Given the description of an element on the screen output the (x, y) to click on. 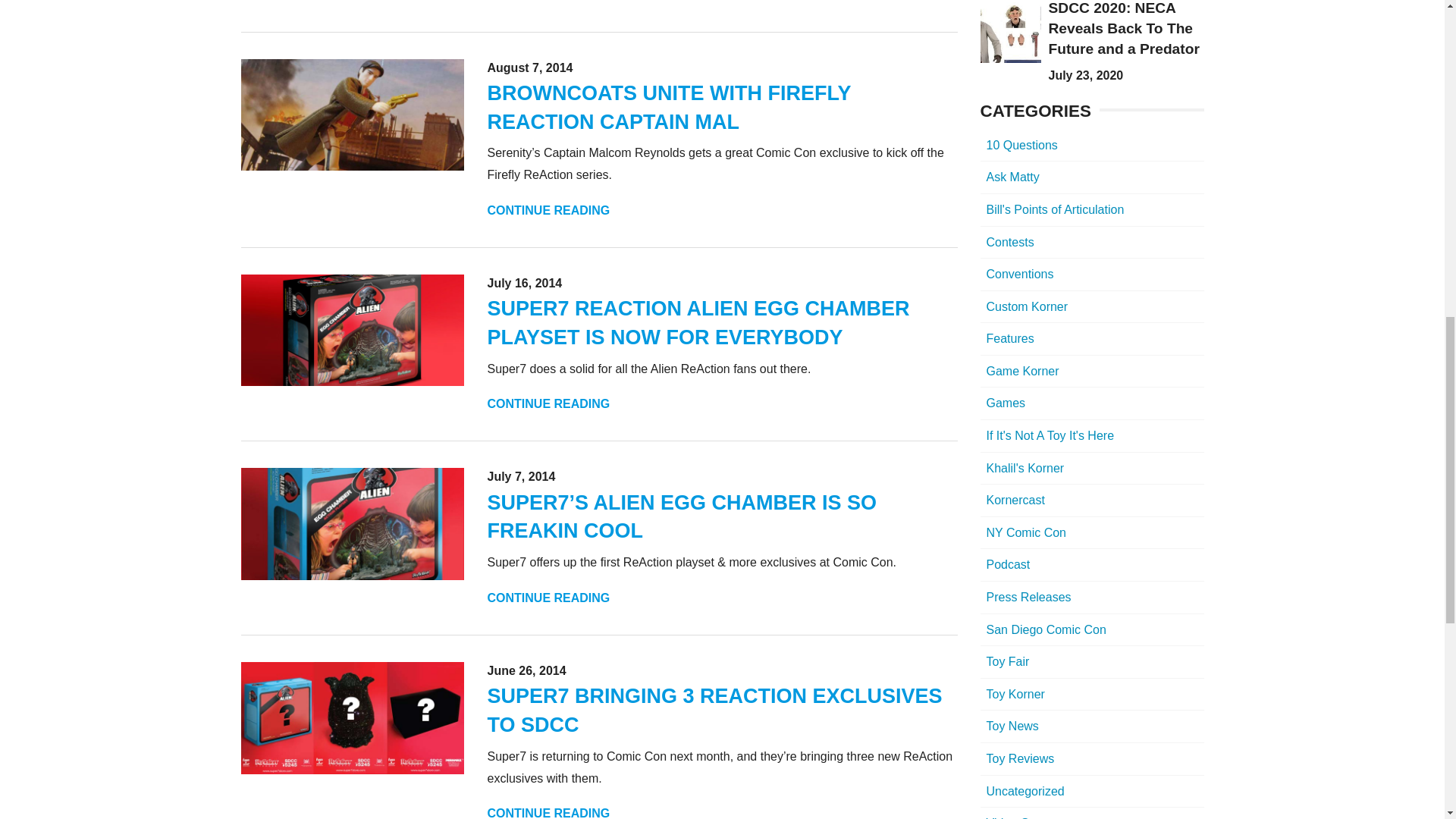
CONTINUE READING (548, 812)
CONTINUE READING (548, 210)
BROWNCOATS UNITE WITH FIREFLY REACTION CAPTAIN MAL (668, 107)
CONTINUE READING (548, 0)
CONTINUE READING (548, 403)
SUPER7 BRINGING 3 REACTION EXCLUSIVES TO SDCC (714, 710)
CONTINUE READING (548, 597)
